Given the description of an element on the screen output the (x, y) to click on. 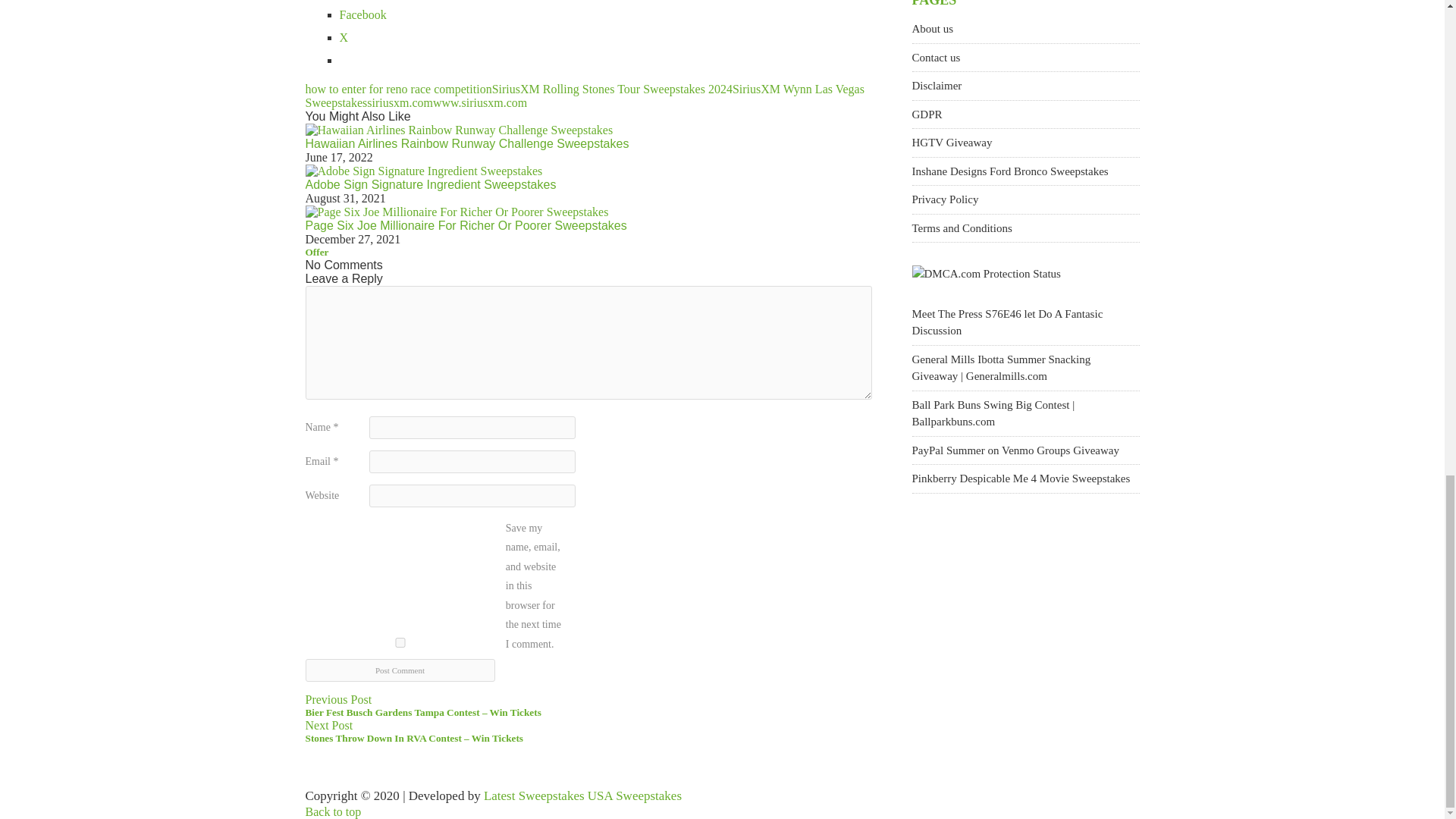
how to enter for reno race competition (398, 88)
Offer (316, 251)
Page Six Joe Millionaire For Richer Or Poorer Sweepstakes (465, 225)
Hawaiian Airlines Rainbow Runway Challenge Sweepstakes (466, 143)
Facebook (363, 14)
yes (399, 642)
DMCA.com Protection Status (985, 273)
SiriusXM Wynn Las Vegas Sweepstakes (583, 95)
siriusxm.com (399, 102)
SiriusXM Rolling Stones Tour Sweepstakes 2024 (612, 88)
